Given the description of an element on the screen output the (x, y) to click on. 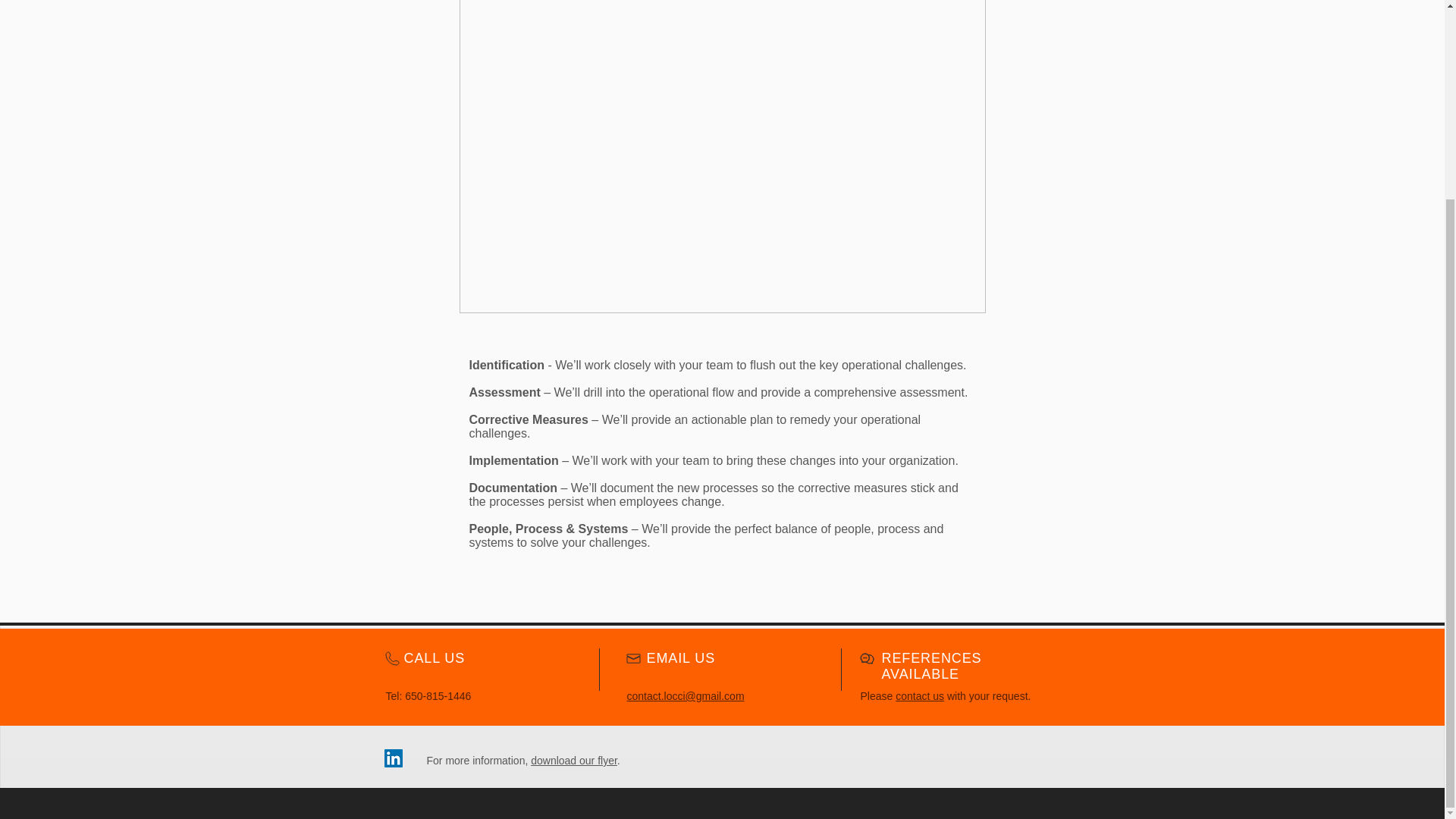
download our flyer (574, 760)
contact us (919, 695)
